Given the description of an element on the screen output the (x, y) to click on. 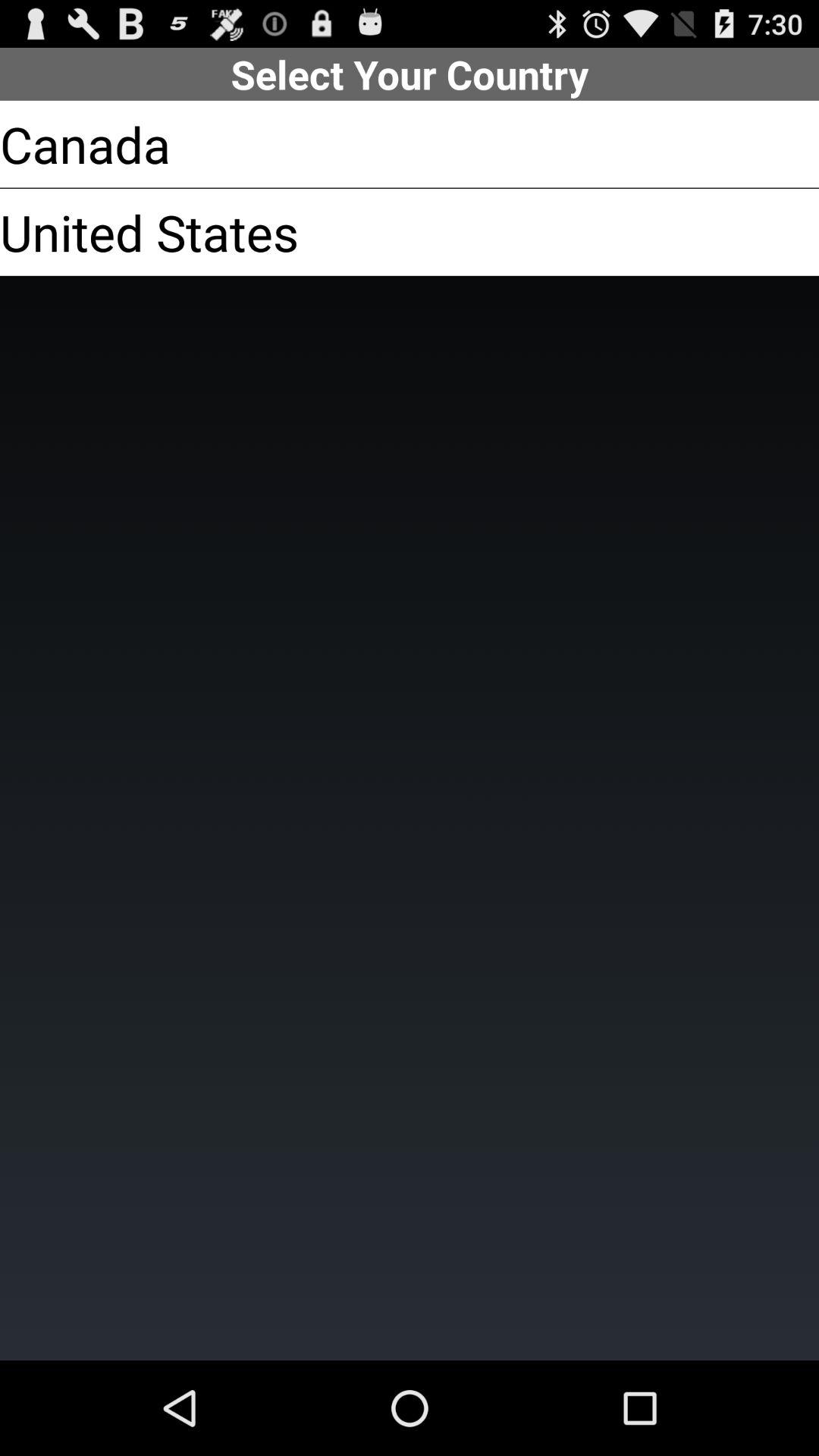
tap canada app (85, 143)
